Given the description of an element on the screen output the (x, y) to click on. 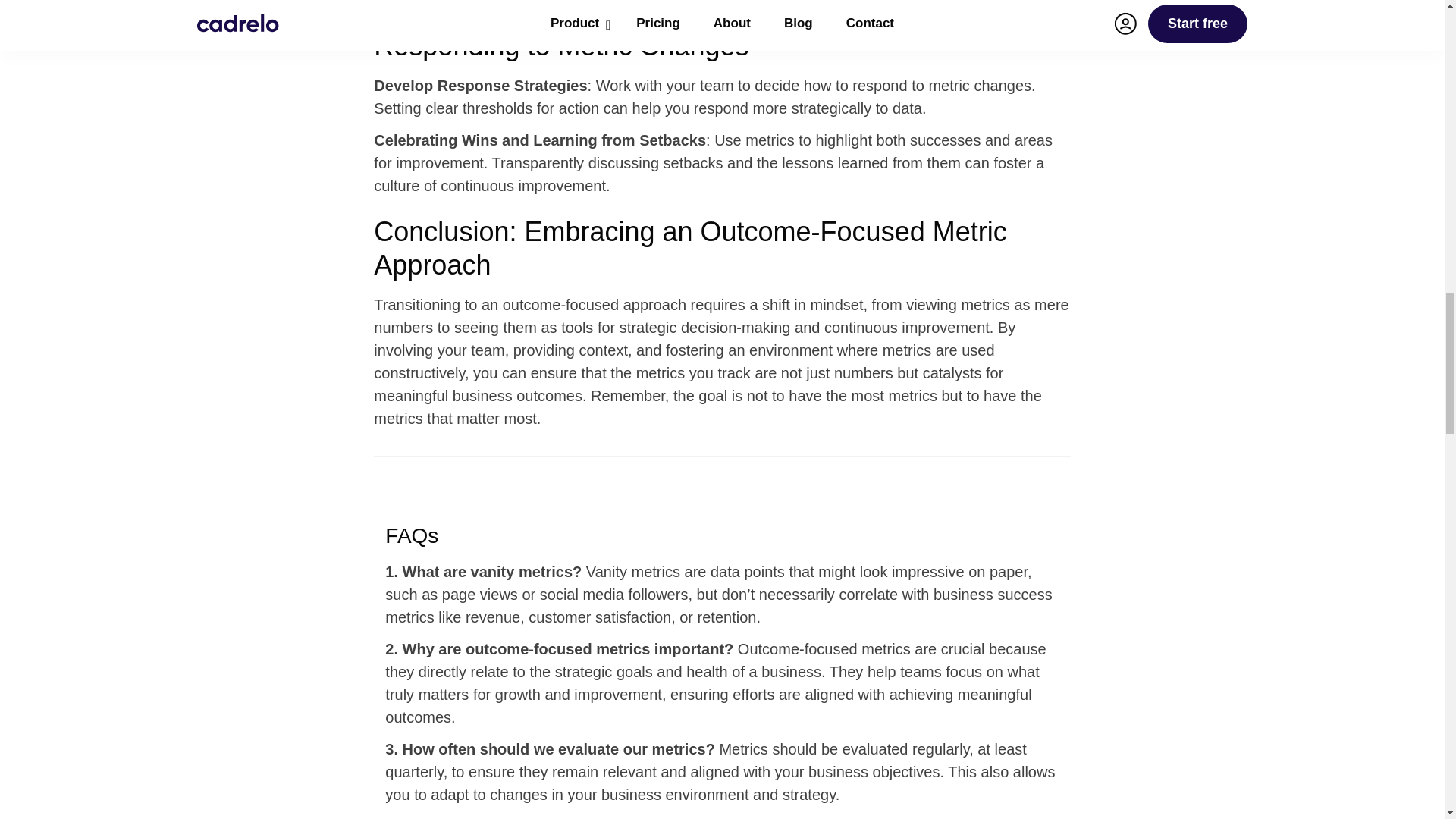
Cadrelo goal feature (702, 4)
